Given the description of an element on the screen output the (x, y) to click on. 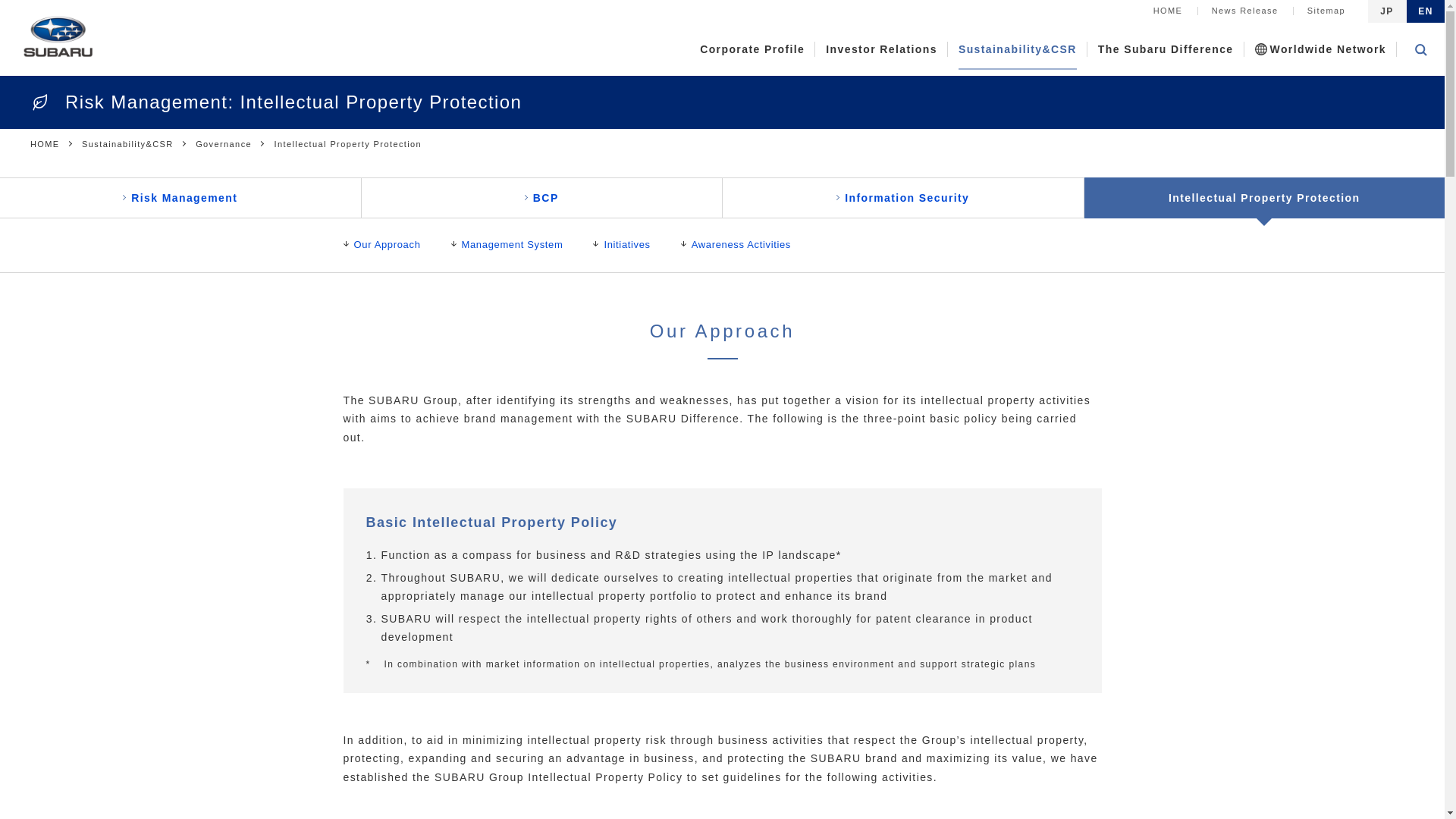
English (1425, 10)
search (970, 33)
Investor Relations (881, 48)
Corporate Profile (751, 48)
Japanese (1386, 10)
